Given the description of an element on the screen output the (x, y) to click on. 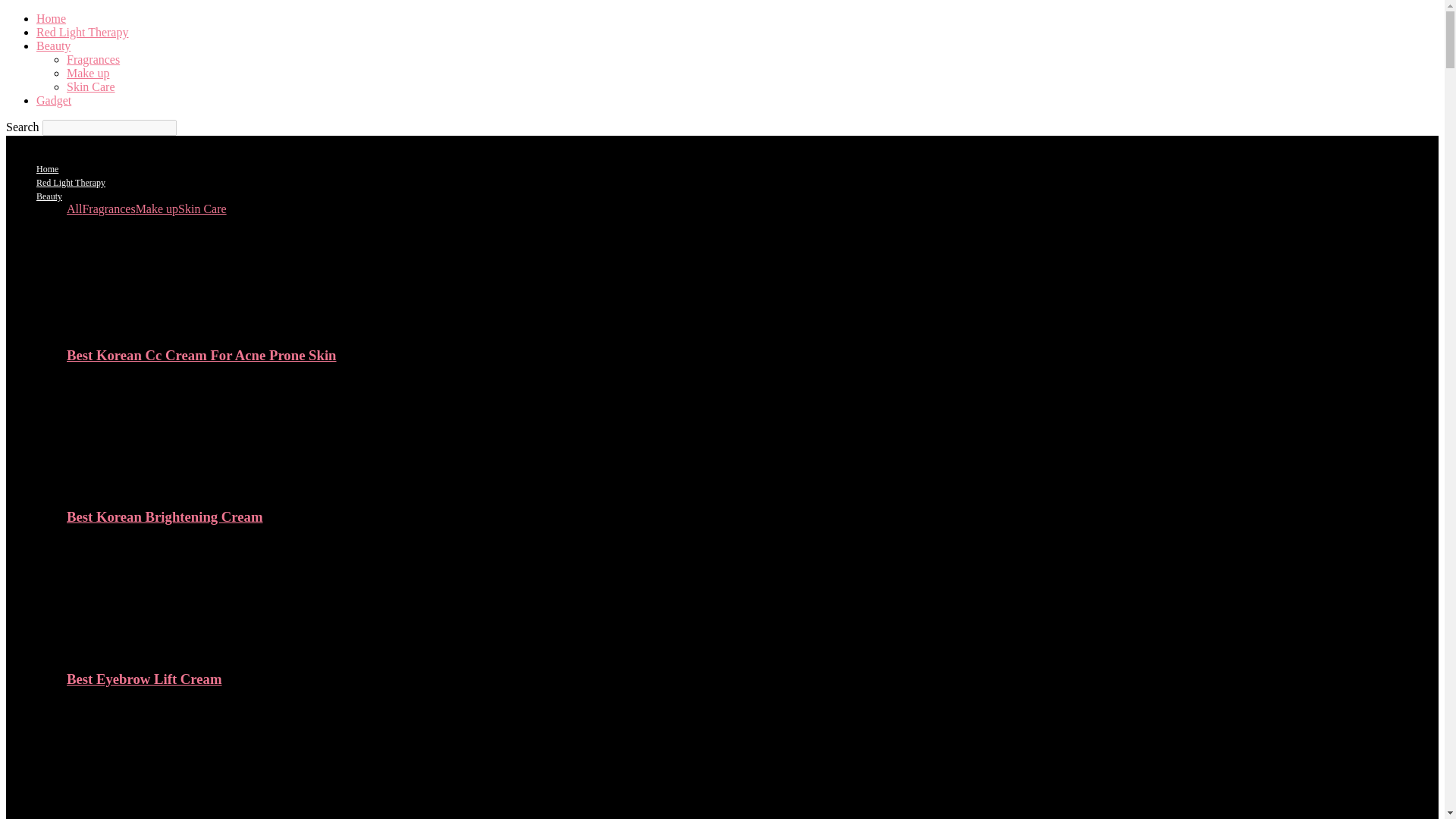
Red Light Therapy (82, 31)
Fragrances (92, 59)
Fragrances (108, 208)
Home (47, 168)
Skin Care (90, 86)
All (73, 208)
Make up (87, 72)
Skin Care (202, 208)
Beauty (49, 195)
Best Eyebrow Lift Cream (148, 649)
Best Korean Cc Cream For Acne Prone Skin (201, 355)
Red Light Therapy (70, 182)
Make up (156, 208)
Home (50, 18)
Best Korean Brightening Cream (148, 486)
